Given the description of an element on the screen output the (x, y) to click on. 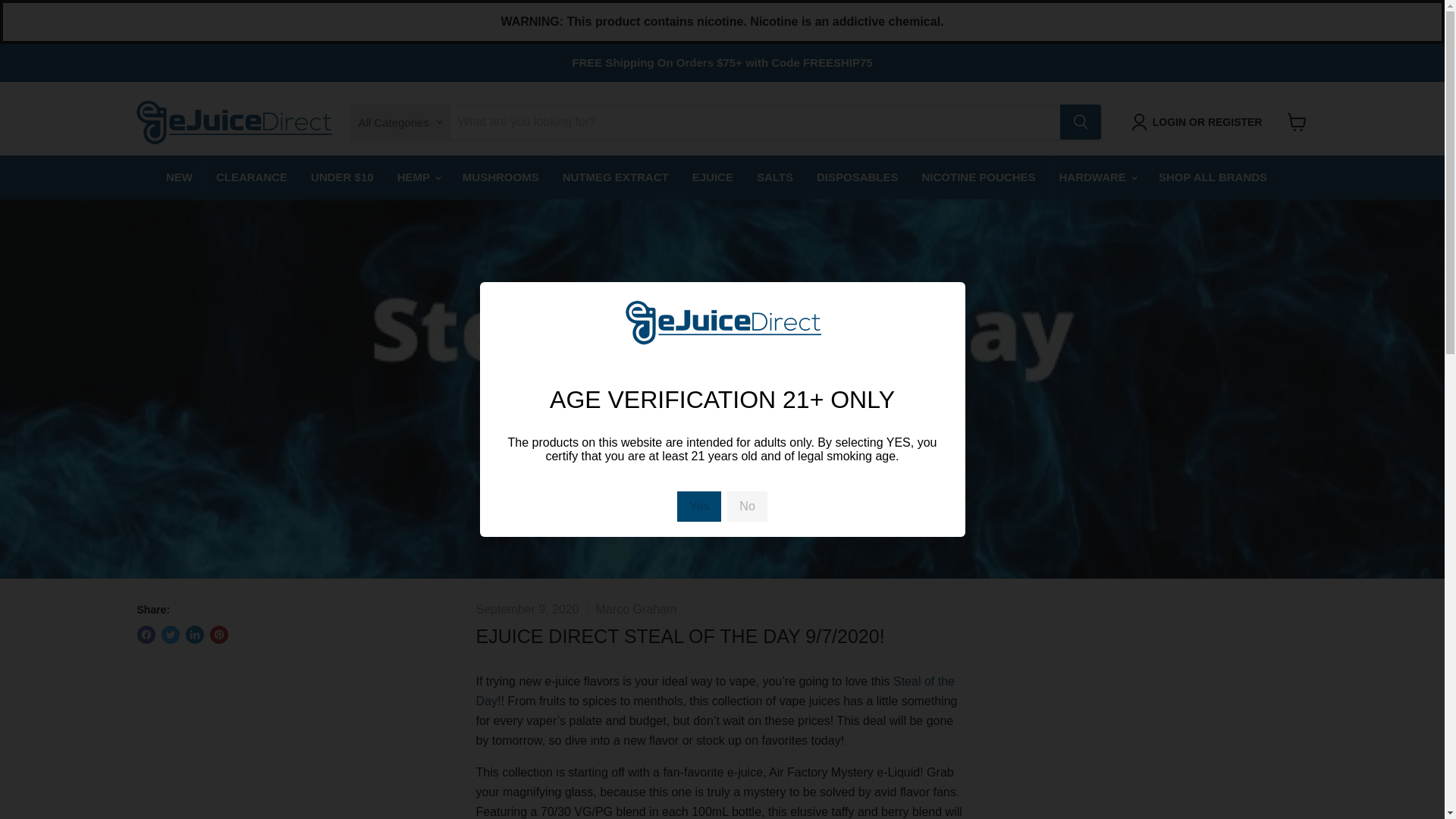
LOGIN OR REGISTER (1199, 122)
View cart (1296, 121)
CLEARANCE (251, 177)
NEW (178, 177)
